Given the description of an element on the screen output the (x, y) to click on. 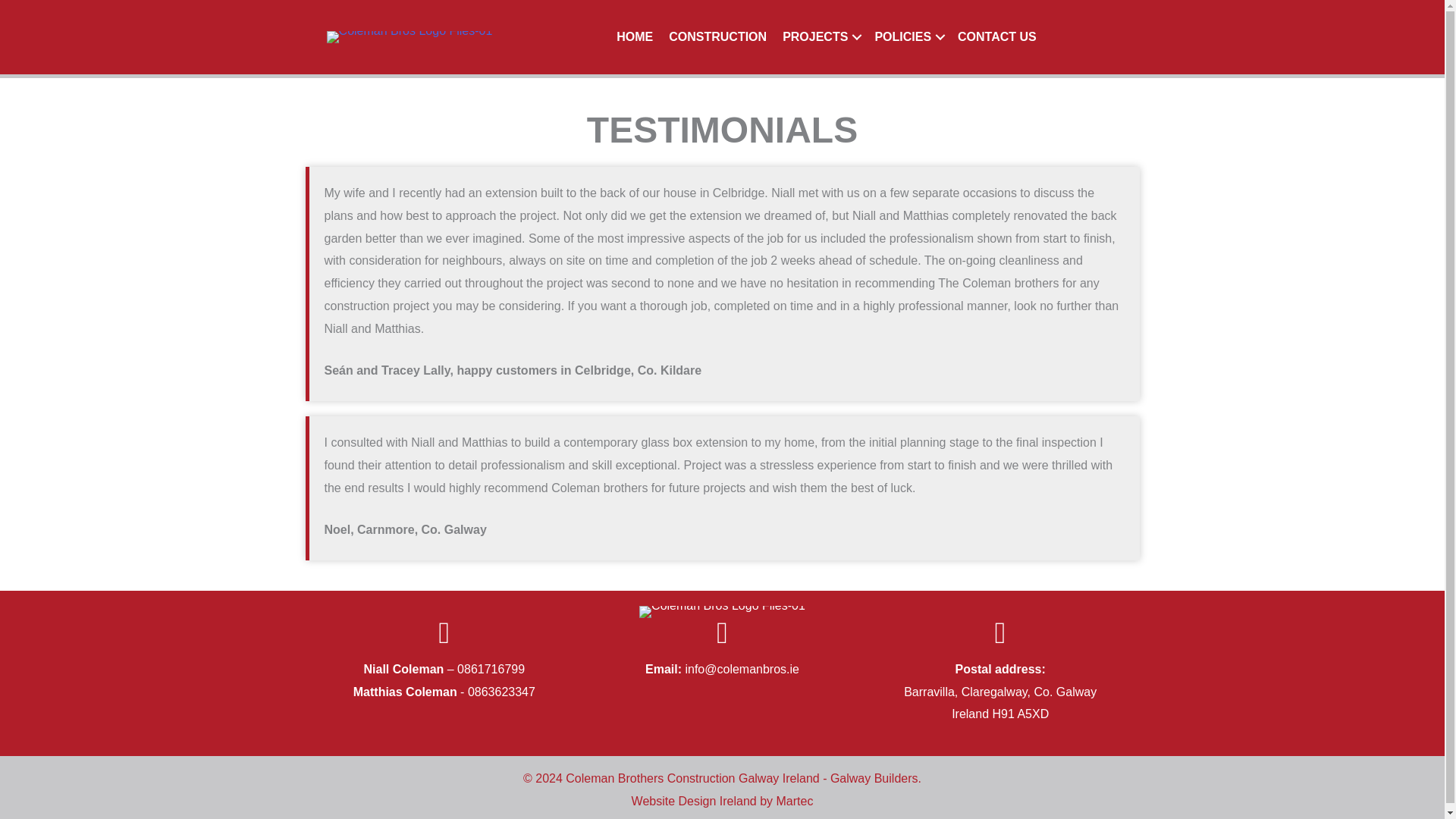
Martec (794, 800)
POLICIES (907, 36)
Coleman Bros Logo Files-01 (409, 37)
Website Design Ireland (694, 800)
PROJECTS (820, 36)
Website Design Galway (694, 800)
CONSTRUCTION (717, 36)
Coleman Bros Logo Files-01 (722, 612)
HOME (634, 36)
CONTACT US (996, 36)
